Given the description of an element on the screen output the (x, y) to click on. 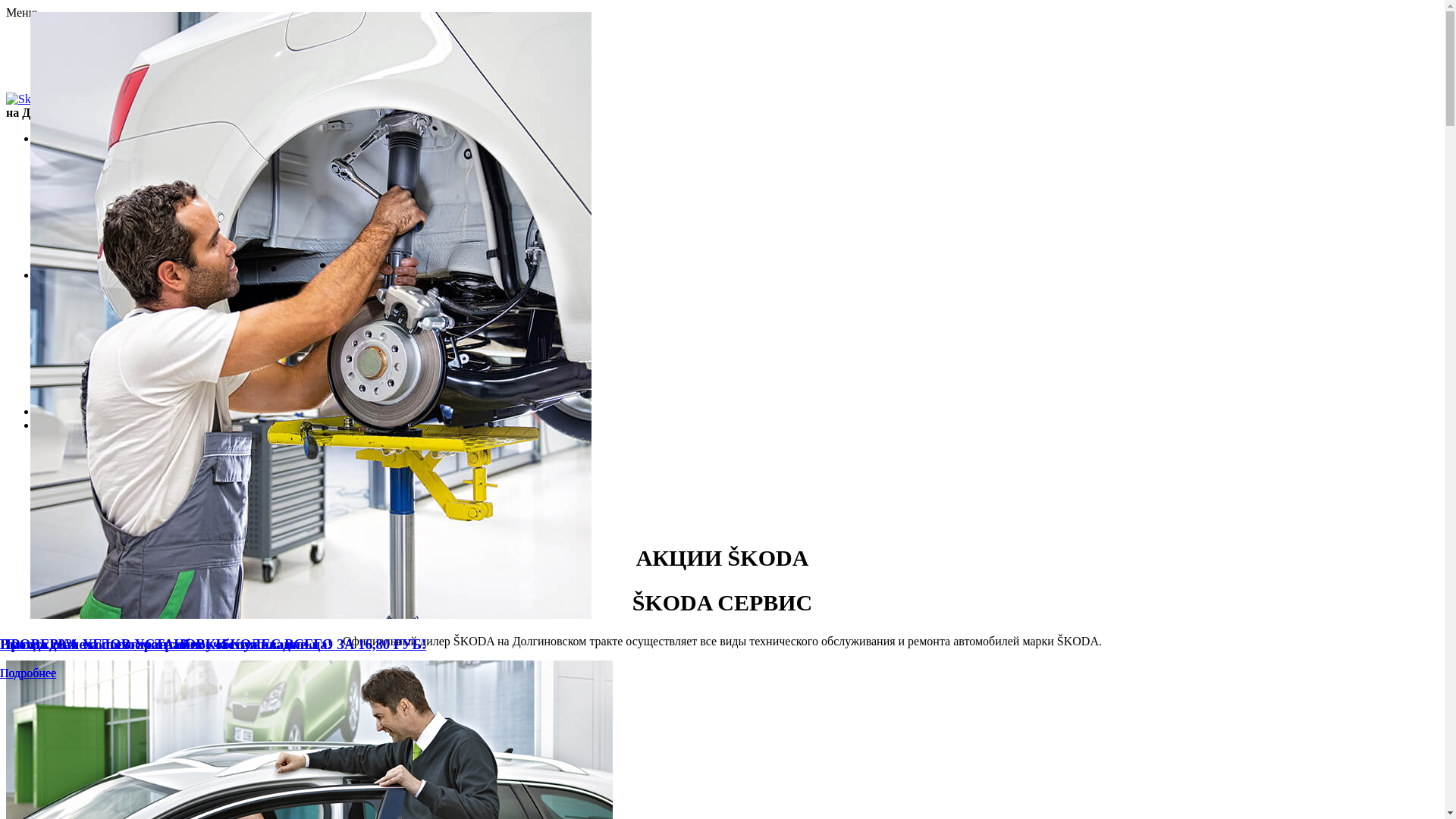
TRADE-IN Element type: text (95, 260)
